Given the description of an element on the screen output the (x, y) to click on. 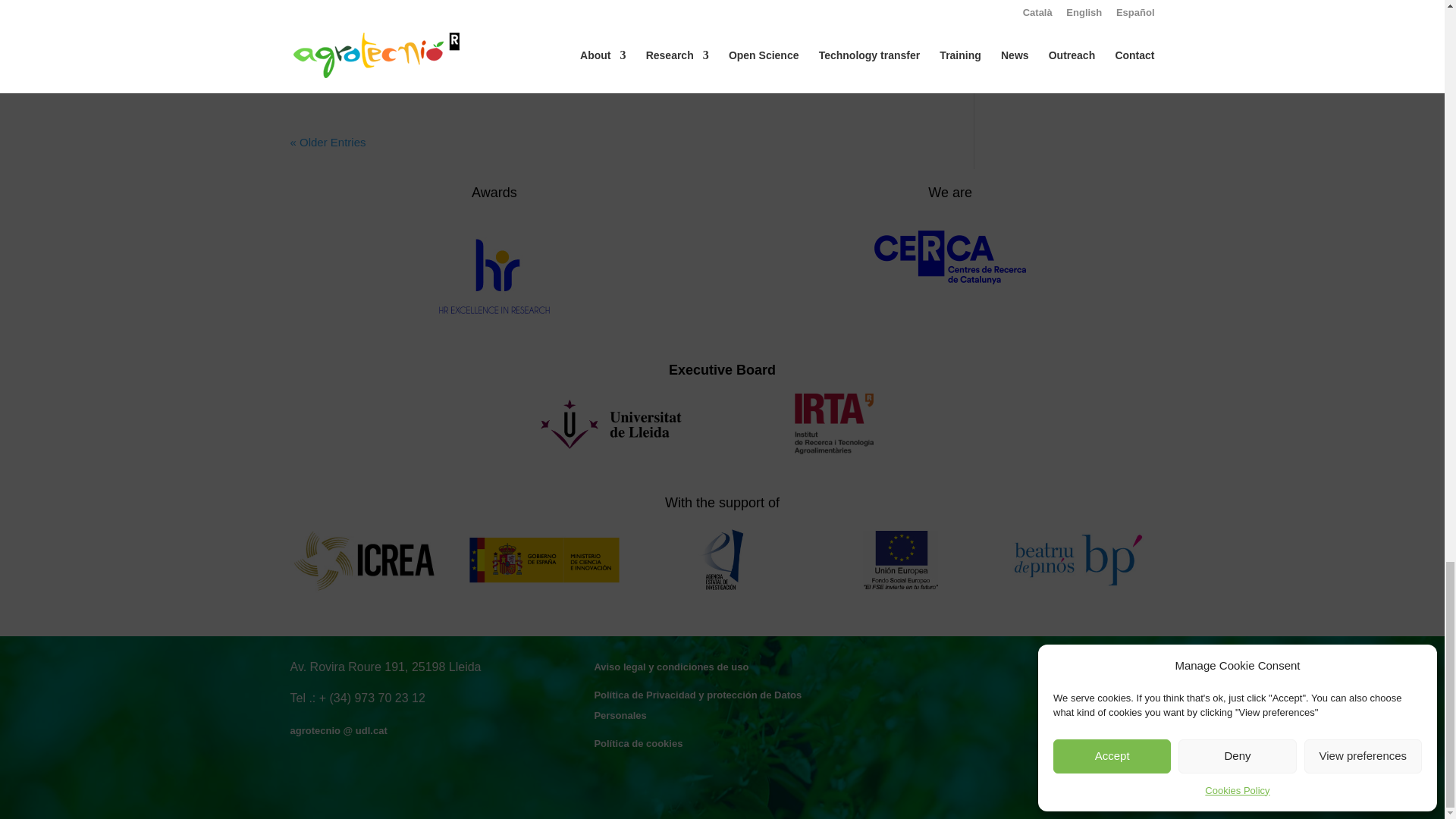
Posts by Admin Lagrafica (341, 21)
excellence (494, 275)
logo-CERCA-2 (950, 257)
UDL (611, 423)
